Given the description of an element on the screen output the (x, y) to click on. 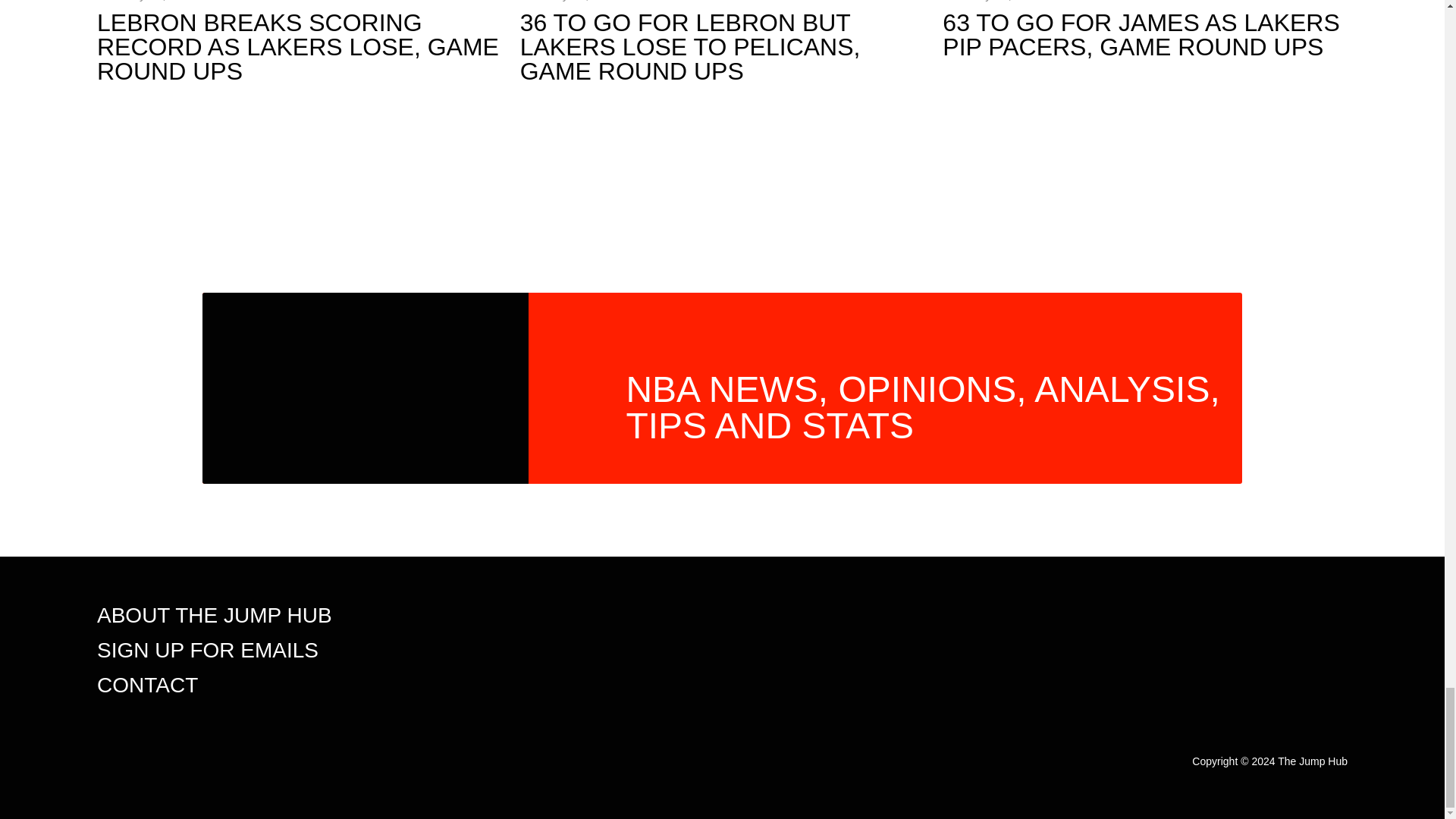
CONTACT (147, 684)
Facebook (1335, 617)
ABOUT THE JUMP HUB (214, 615)
Twitter (1302, 617)
SIGN UP FOR EMAILS (207, 649)
